Given the description of an element on the screen output the (x, y) to click on. 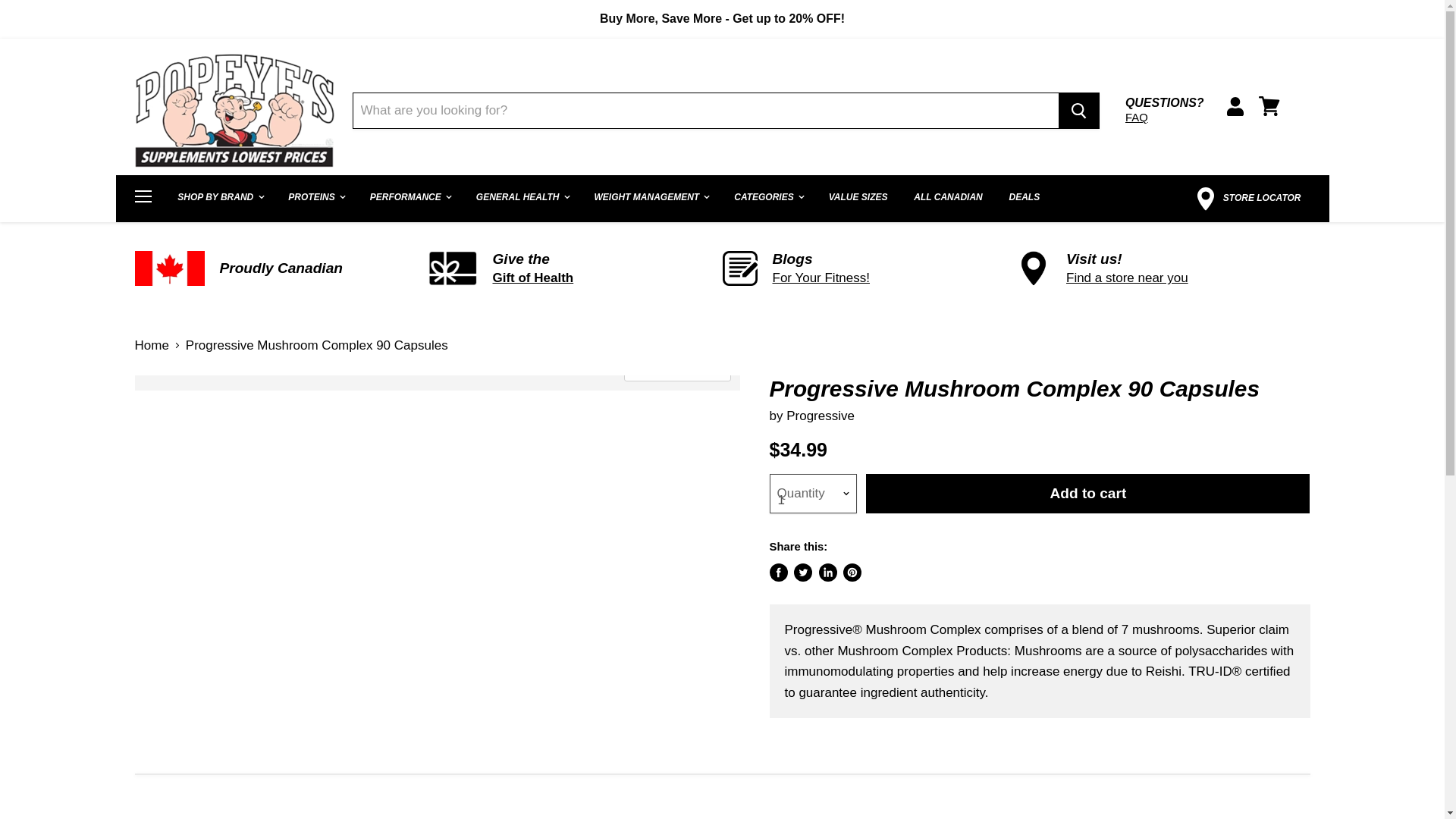
QUESTIONS? (1164, 102)
View cart (1268, 105)
FAQ (1164, 117)
SHOP BY BRAND (219, 196)
